Given the description of an element on the screen output the (x, y) to click on. 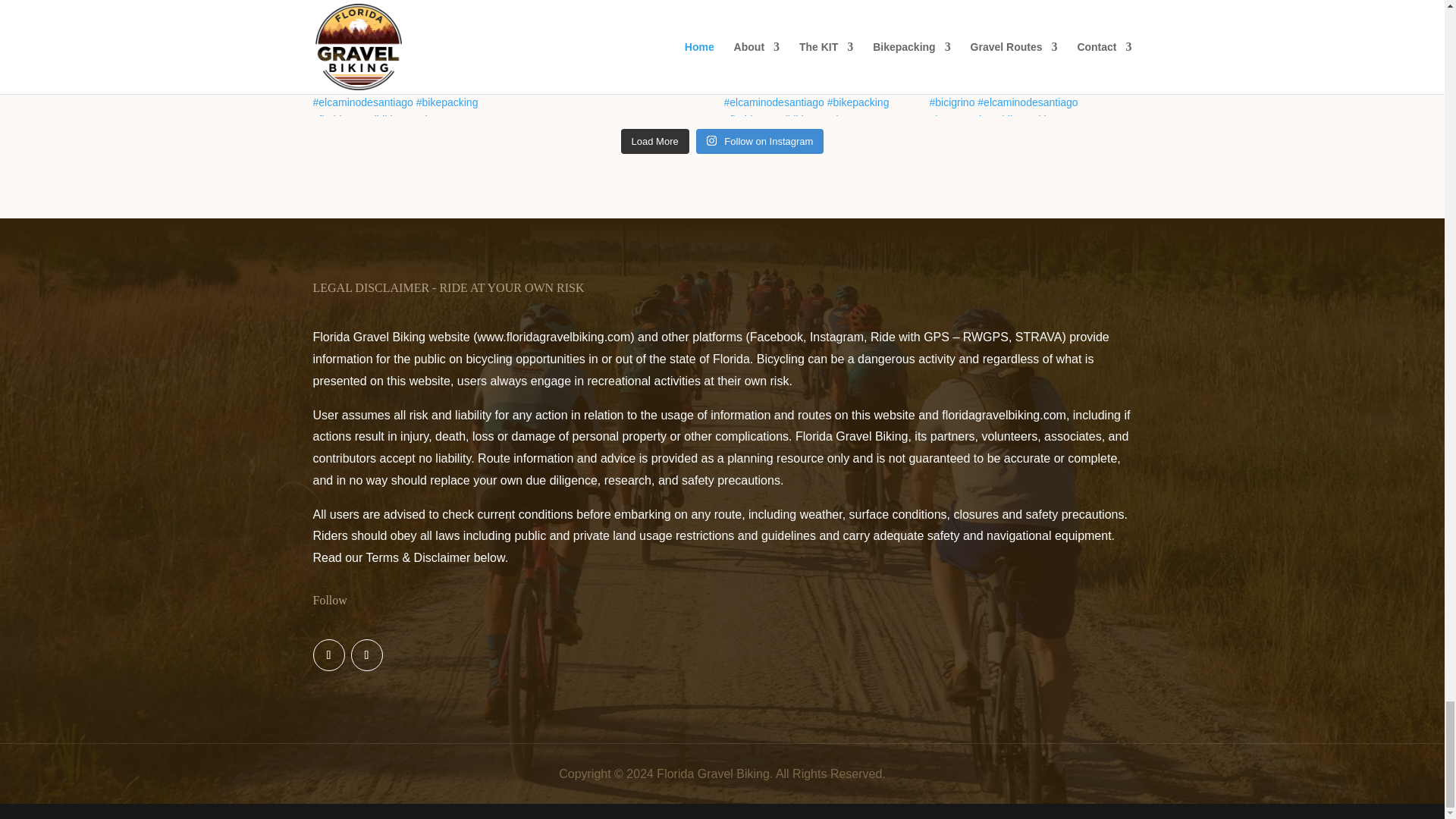
Follow on Instagram (365, 654)
Follow on Facebook (328, 654)
